Given the description of an element on the screen output the (x, y) to click on. 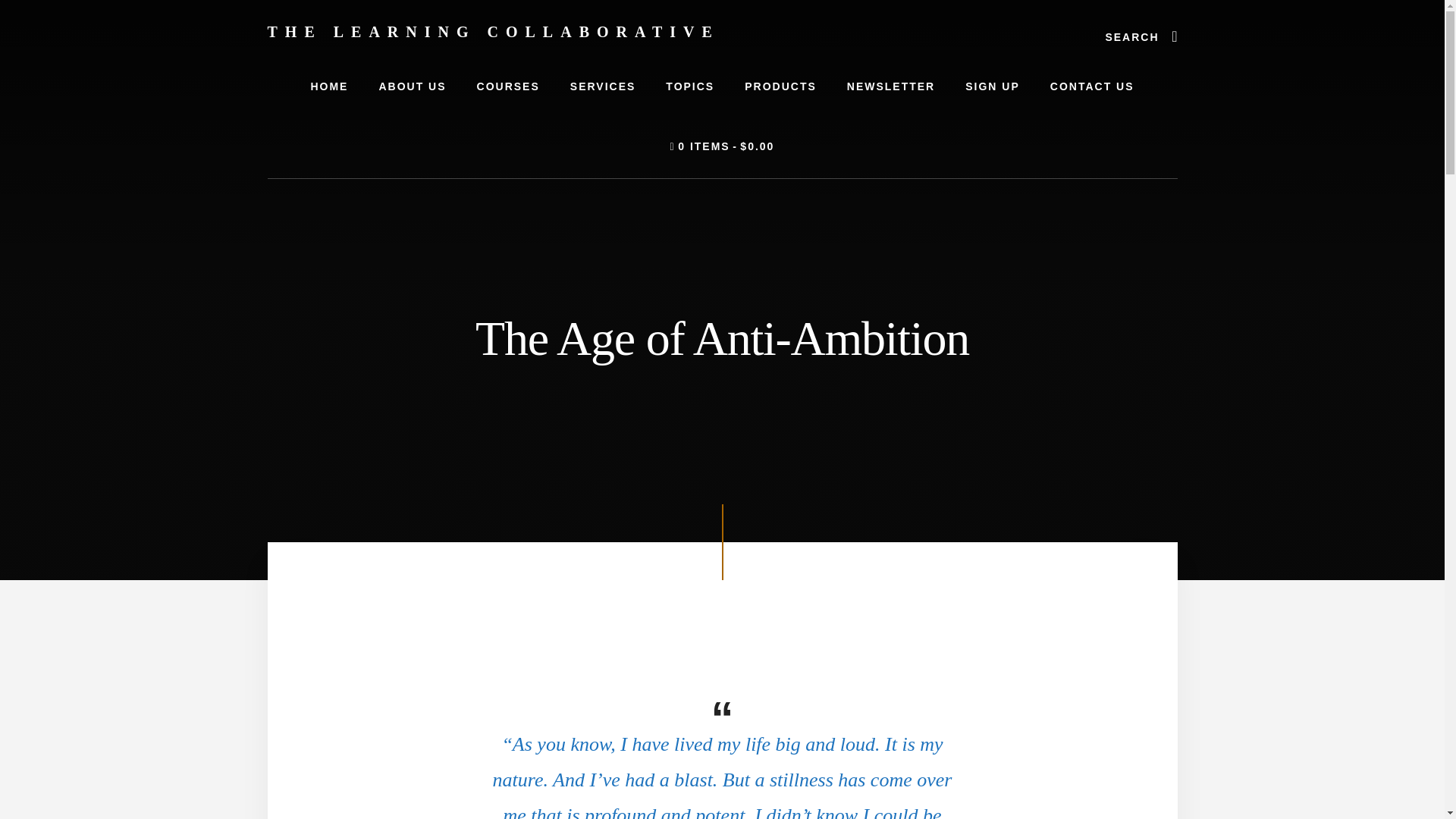
SERVICES (602, 86)
ABOUT US (411, 86)
Start shopping (722, 147)
COURSES (507, 86)
TOPICS (689, 86)
PRODUCTS (780, 86)
CONTACT US (1092, 86)
HOME (328, 86)
SIGN UP (992, 86)
THE LEARNING COLLABORATIVE (492, 31)
NEWSLETTER (890, 86)
